Given the description of an element on the screen output the (x, y) to click on. 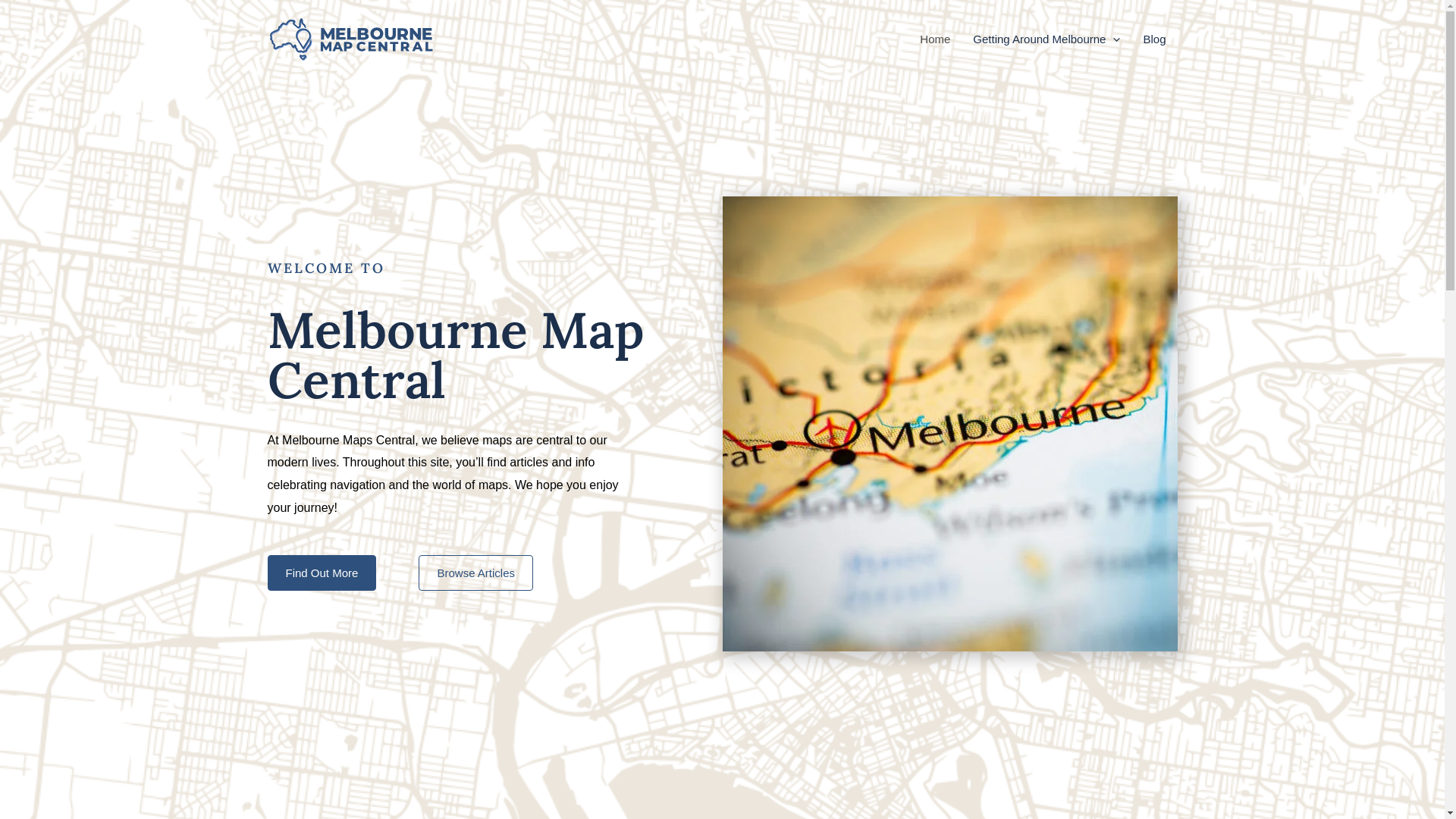
Browse Articles Element type: text (475, 572)
Home Element type: text (934, 39)
Blog Element type: text (1153, 39)
Getting Around Melbourne Element type: text (1046, 39)
Find Out More Element type: text (321, 572)
